Given the description of an element on the screen output the (x, y) to click on. 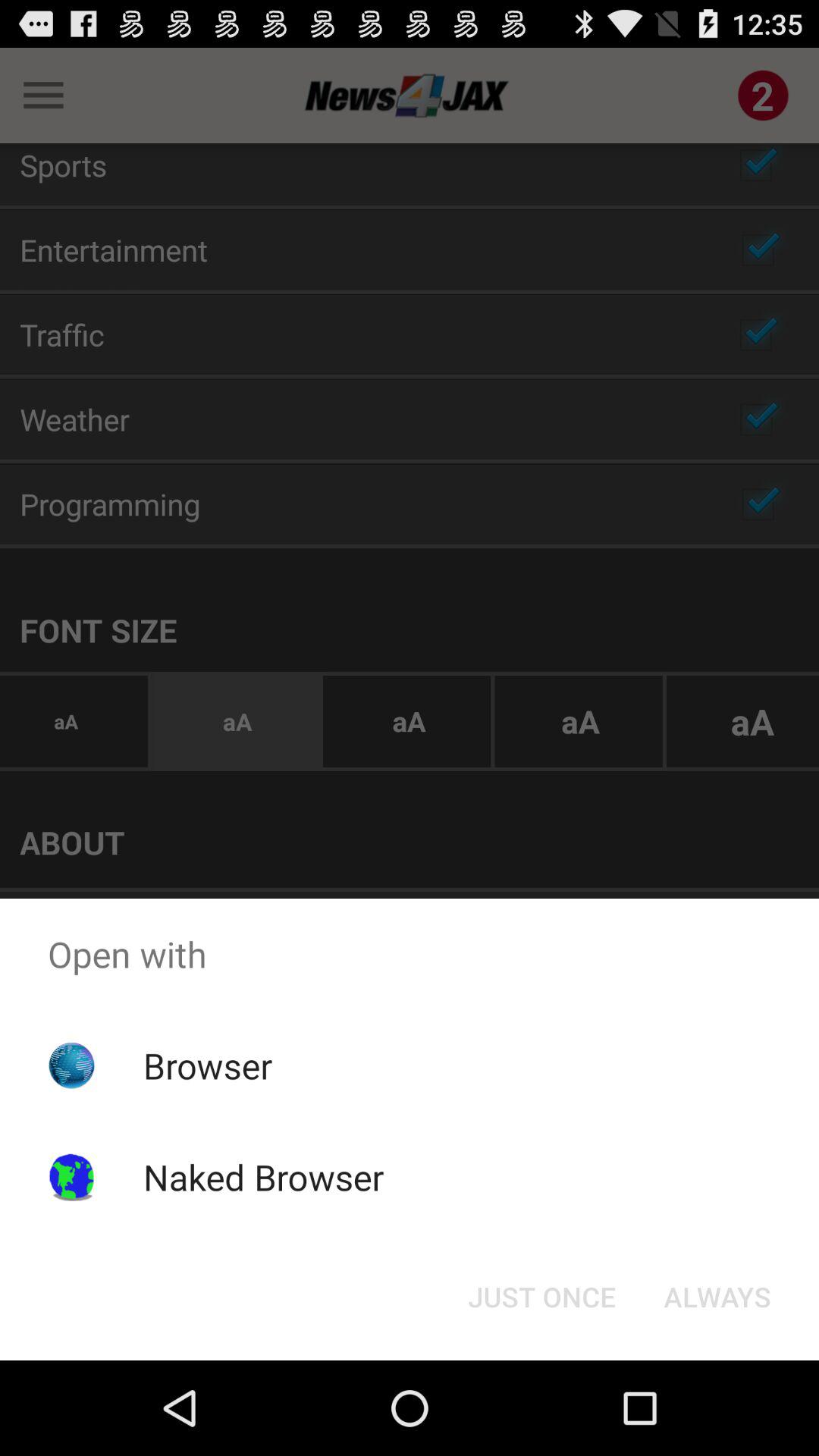
choose the item at the bottom right corner (717, 1296)
